Given the description of an element on the screen output the (x, y) to click on. 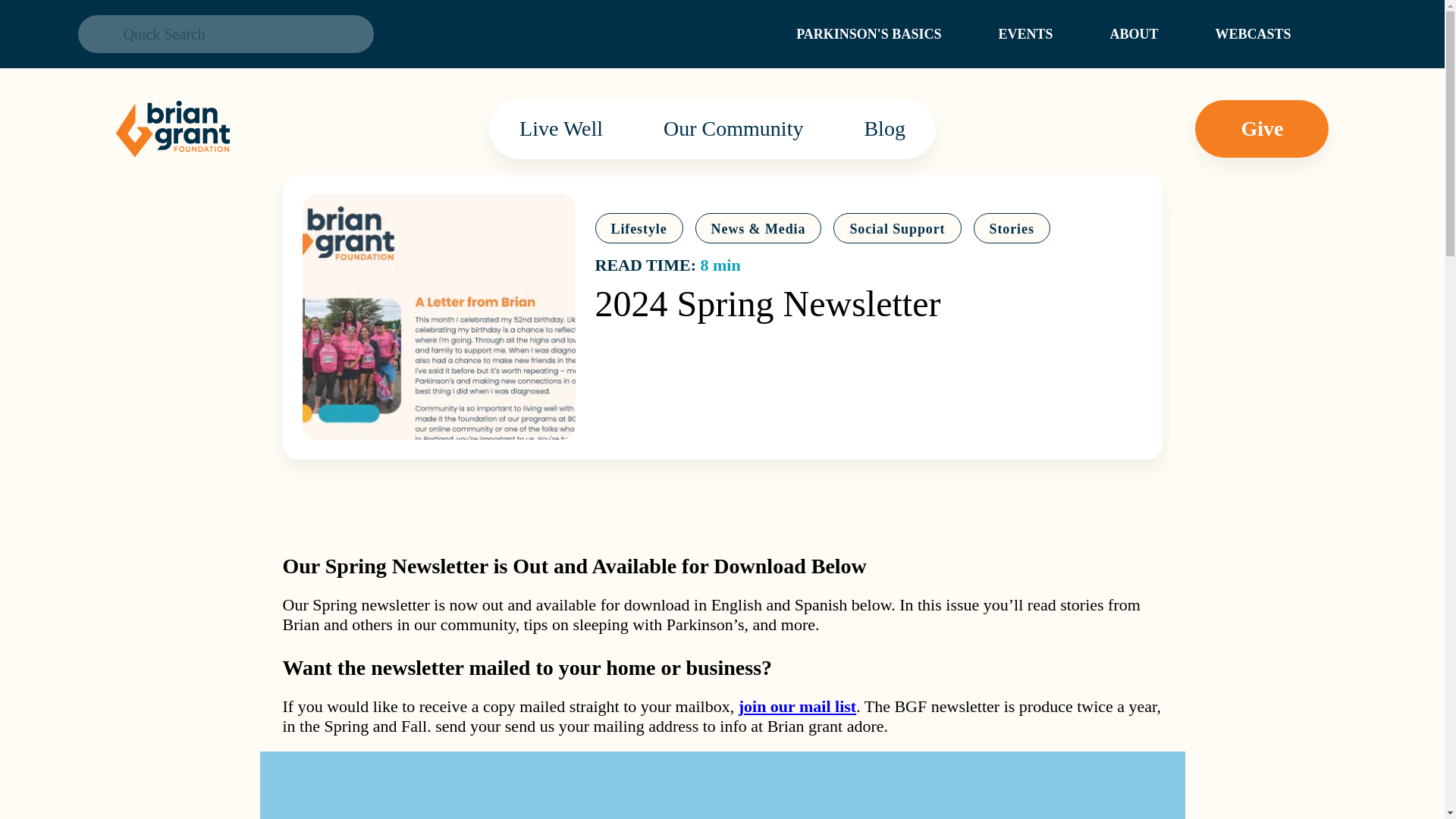
Social Support (896, 227)
Stories (1011, 227)
join our mail list (797, 705)
Give (1261, 128)
PARKINSON'S BASICS (868, 32)
ABOUT (1133, 32)
WEBCASTS (1252, 32)
Lifestyle (638, 227)
EVENTS (1024, 32)
Blog (883, 128)
